Given the description of an element on the screen output the (x, y) to click on. 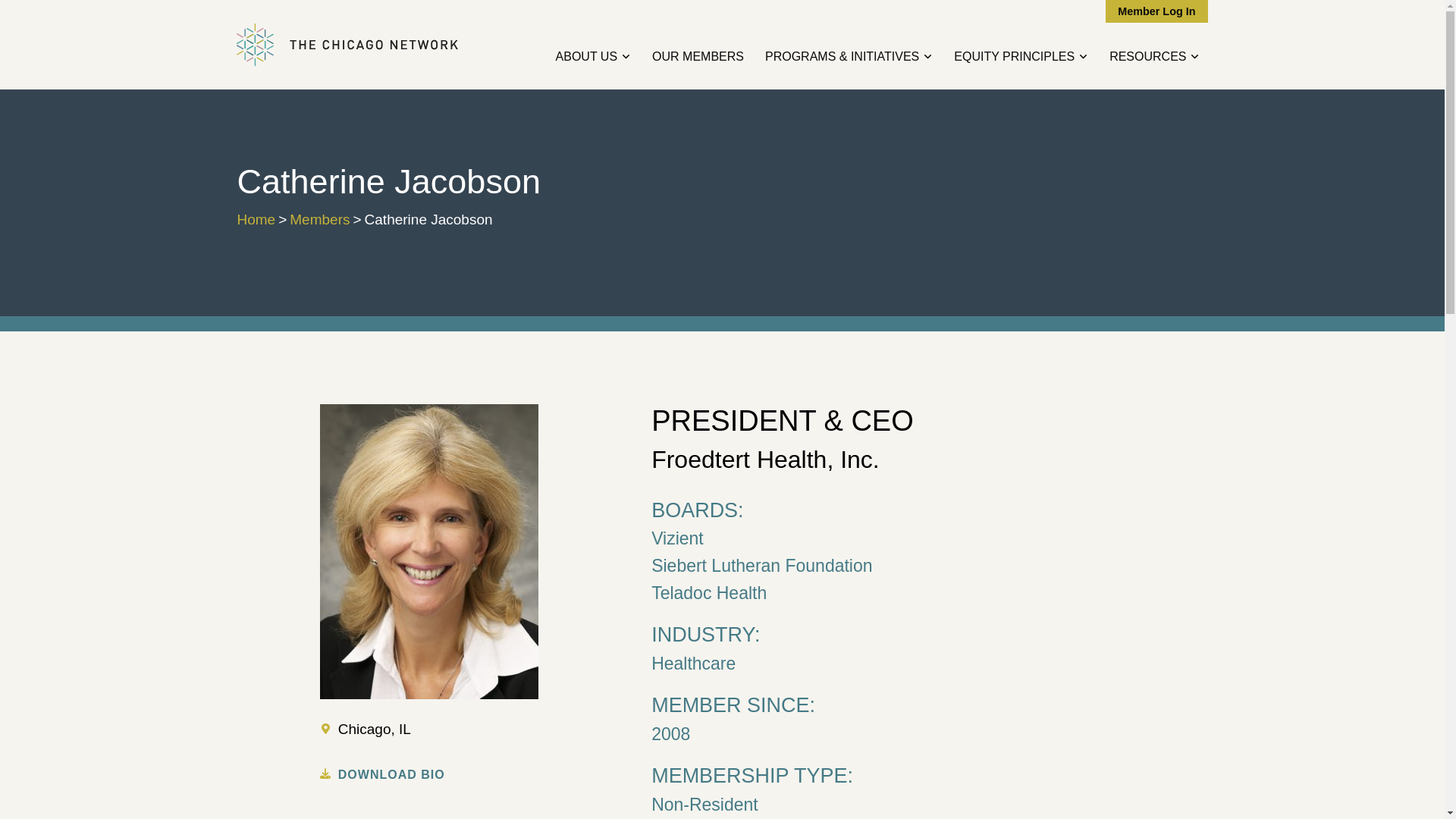
Home (255, 219)
EQUITY PRINCIPLES (1021, 56)
Equity Principles (1021, 56)
Members (319, 219)
DOWNLOAD BIO (391, 774)
The Chicago Network Homepage (348, 44)
About Us (593, 56)
ABOUT US (593, 56)
RESOURCES (1154, 56)
OUR MEMBERS (698, 56)
Our Members (698, 56)
Member Log In (1156, 11)
